Given the description of an element on the screen output the (x, y) to click on. 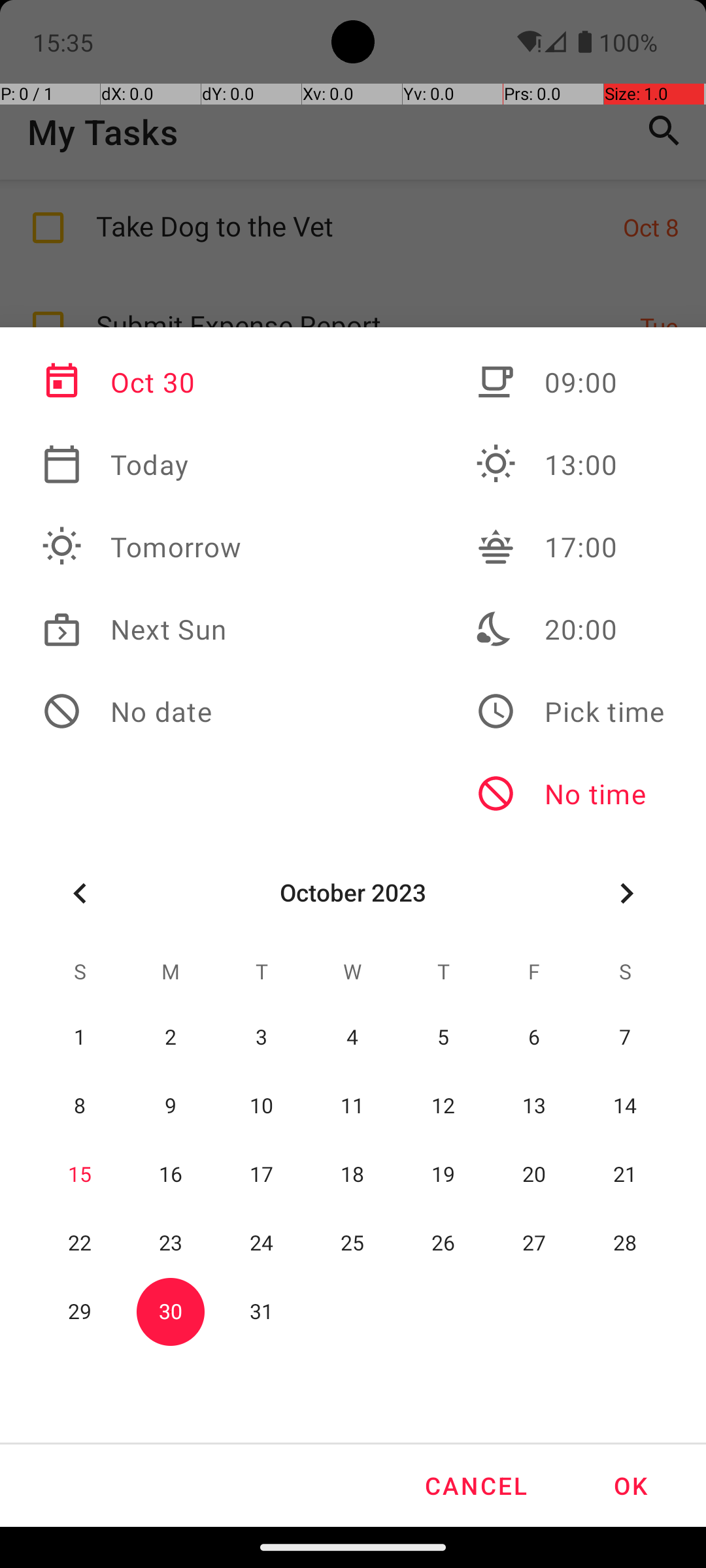
Oct 30 Element type: android.widget.CompoundButton (141, 382)
